Given the description of an element on the screen output the (x, y) to click on. 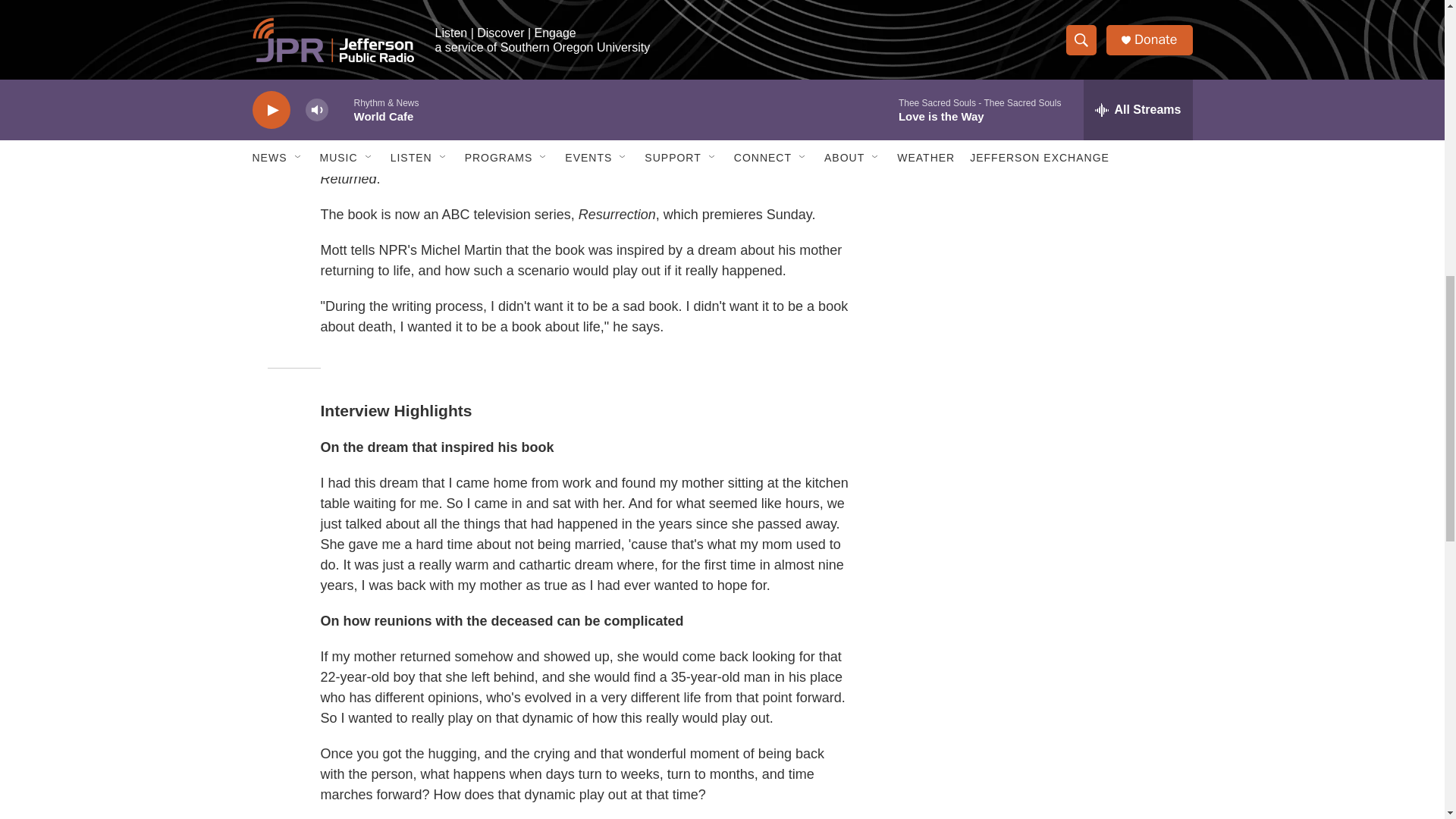
3rd party ad content (1062, 16)
